Given the description of an element on the screen output the (x, y) to click on. 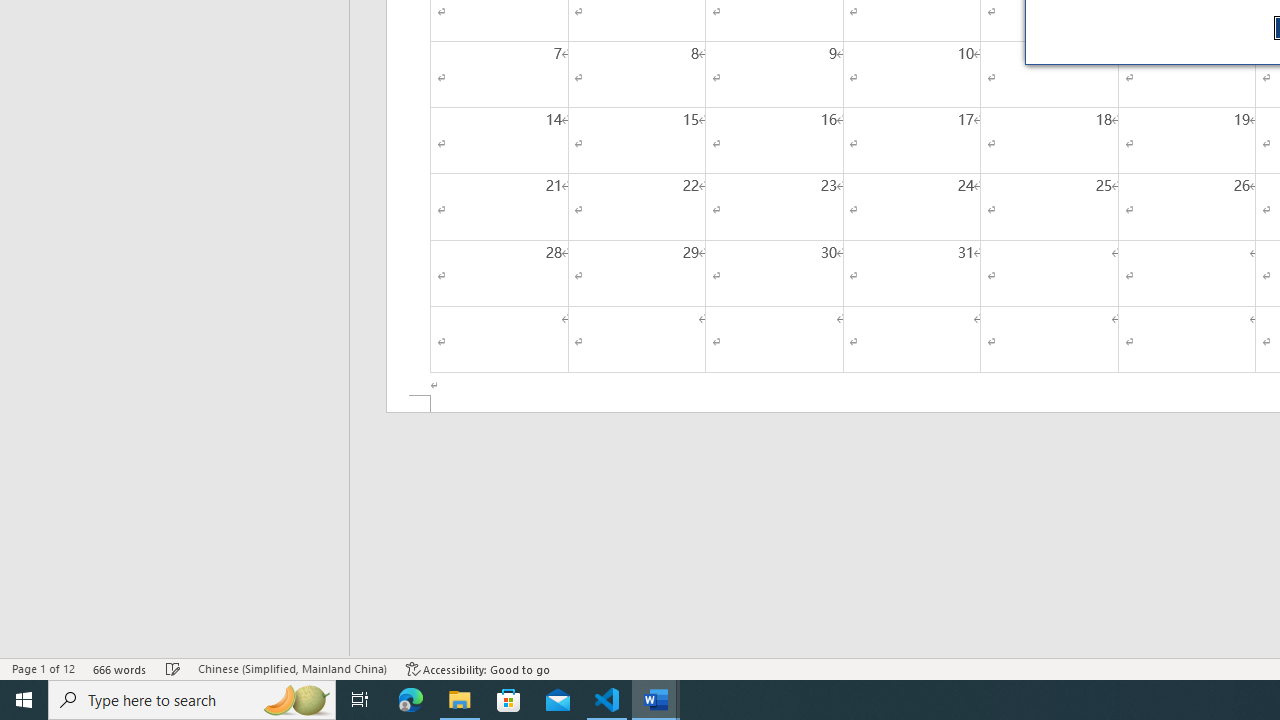
Microsoft Edge (411, 699)
Spelling and Grammar Check Checking (173, 668)
Word Count 666 words (119, 668)
Page Number Page 1 of 12 (43, 668)
Accessibility Checker Accessibility: Good to go (478, 668)
Microsoft Store (509, 699)
Language Chinese (Simplified, Mainland China) (292, 668)
Word - 2 running windows (656, 699)
Visual Studio Code - 1 running window (607, 699)
Start (24, 699)
Search highlights icon opens search home window (295, 699)
Type here to search (191, 699)
Task View (359, 699)
